Given the description of an element on the screen output the (x, y) to click on. 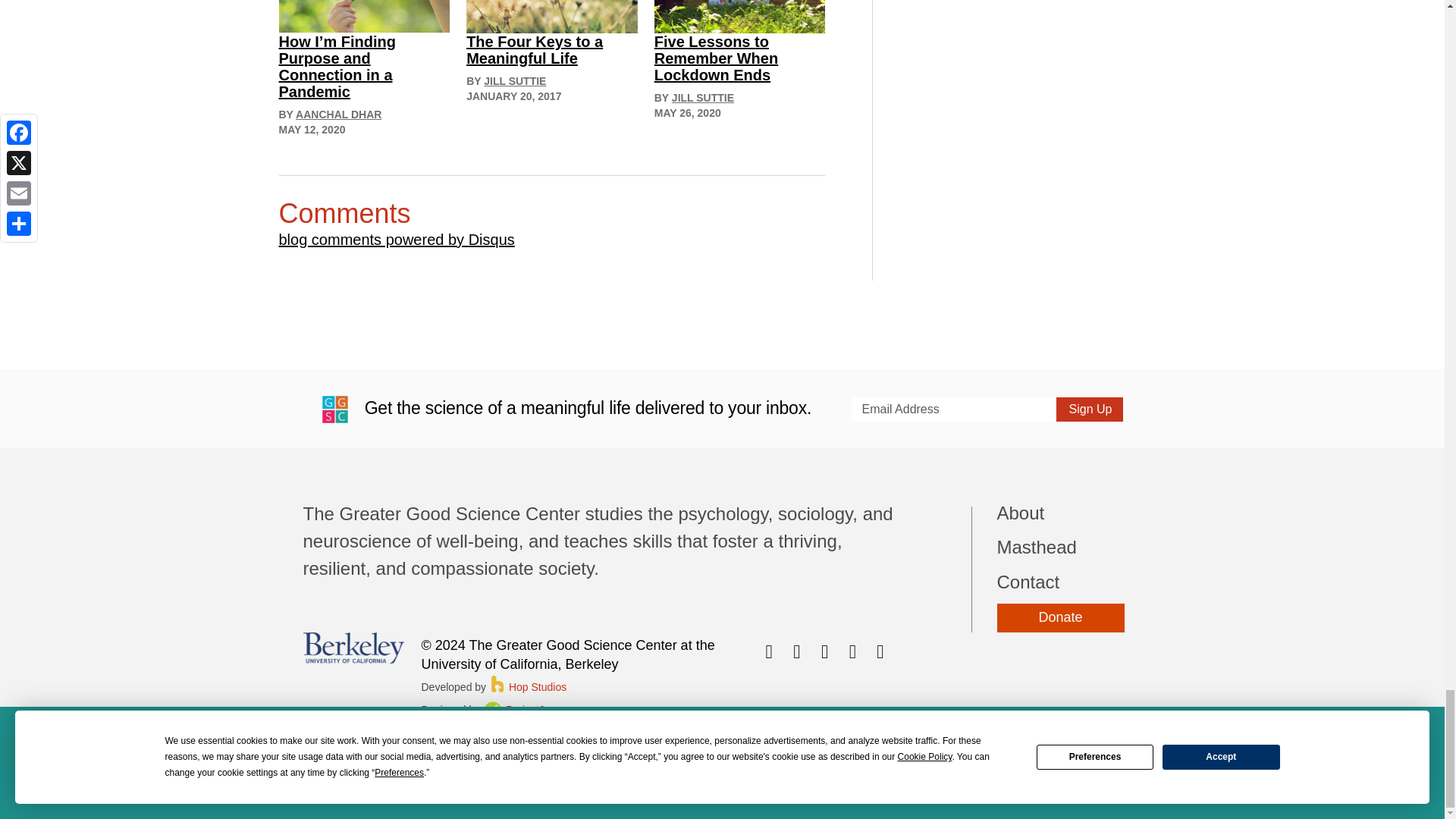
Sign Up (1088, 409)
